Given the description of an element on the screen output the (x, y) to click on. 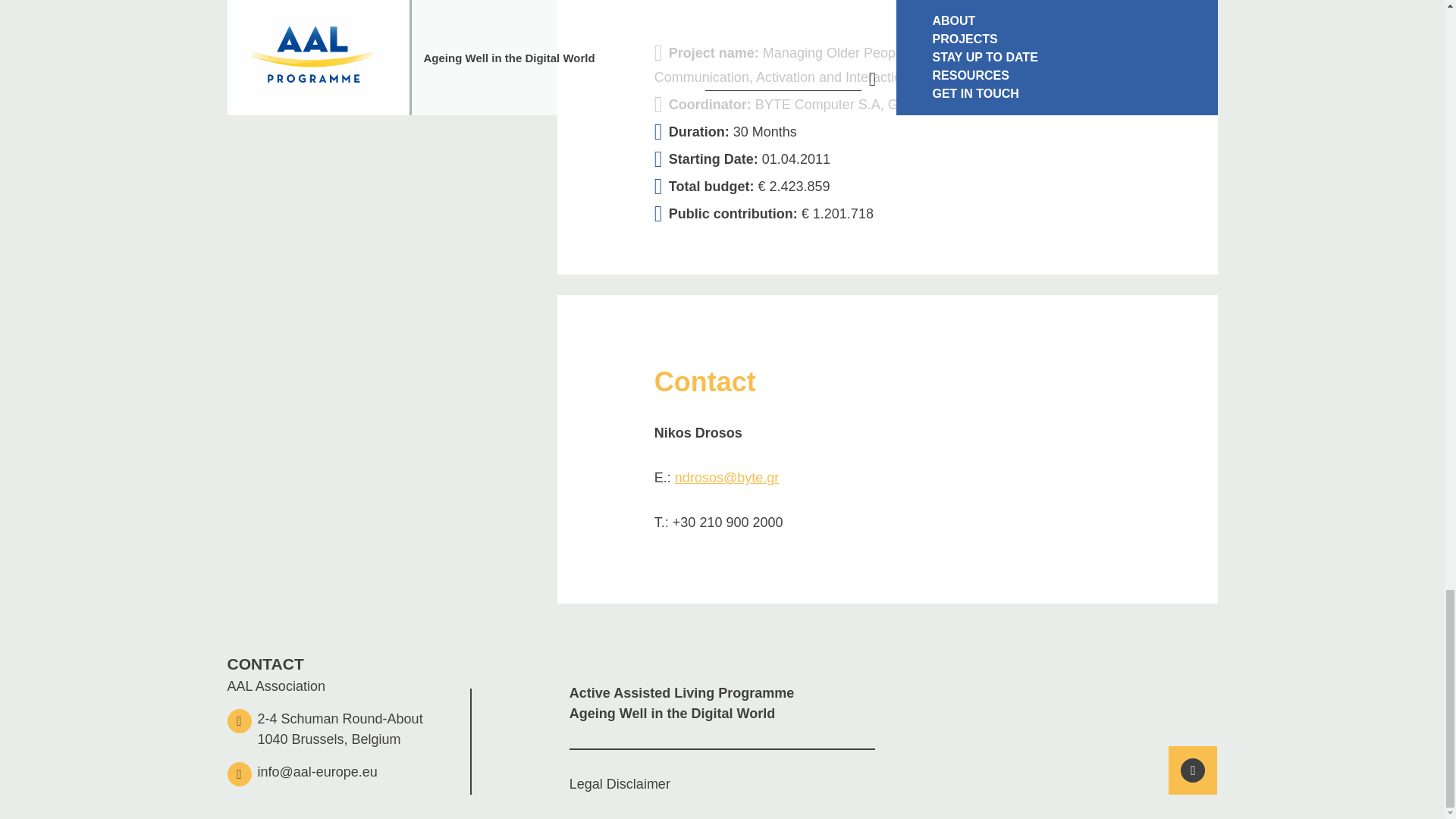
Linkedin (1192, 770)
Legal Disclaimer (619, 783)
